Given the description of an element on the screen output the (x, y) to click on. 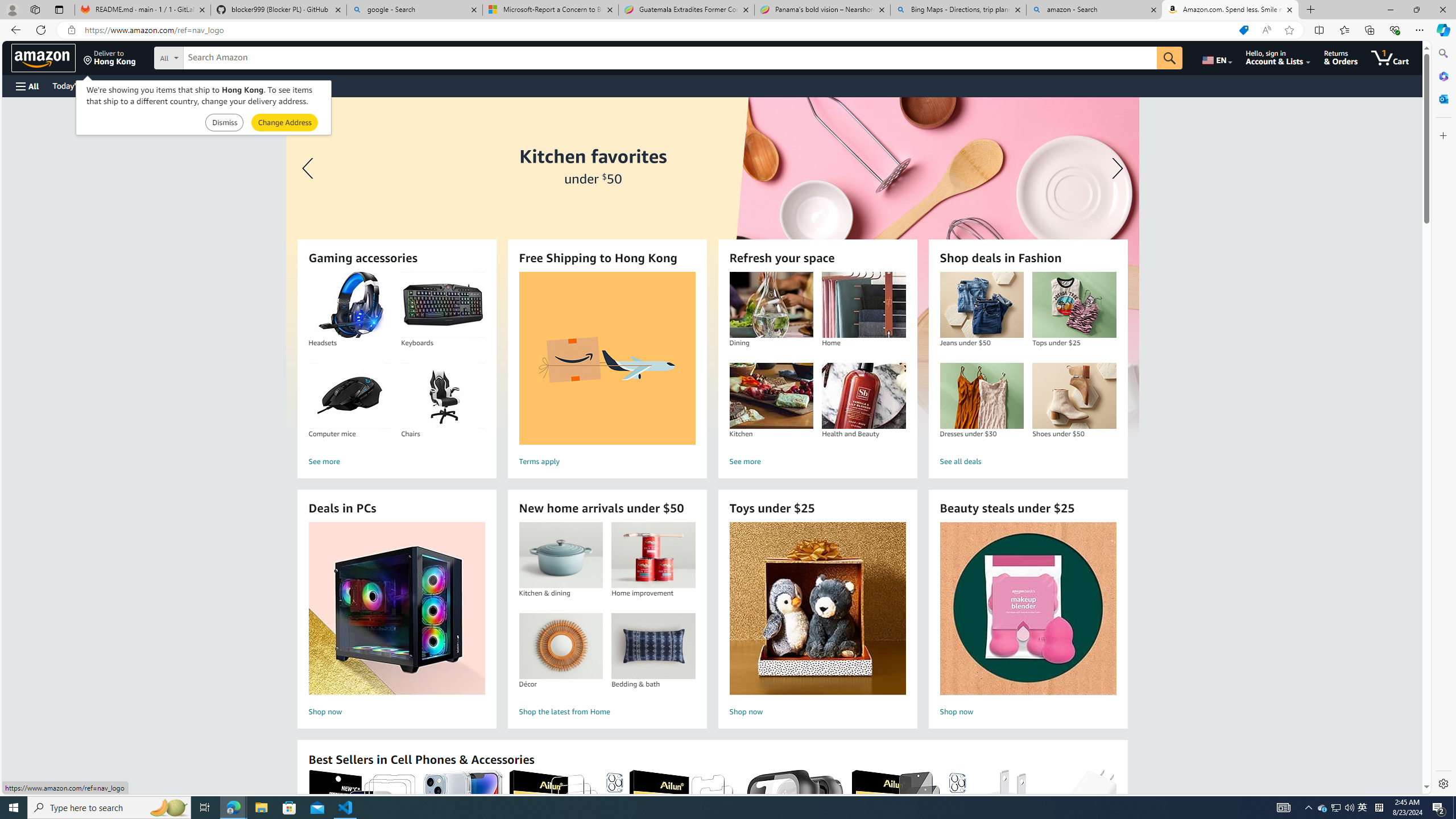
Health and Beauty (863, 395)
Minimize (1390, 9)
Search Amazon (670, 57)
Outlook (1442, 98)
Amazon.com. Spend less. Smile more. (1230, 9)
Microsoft 365 (1442, 76)
Customer Service (145, 85)
Bedding & bath (653, 645)
Search in (210, 56)
Kitchen & dining (560, 555)
Deliver to Hong Kong (109, 57)
Dresses under $30 (981, 395)
Side bar (1443, 418)
